Given the description of an element on the screen output the (x, y) to click on. 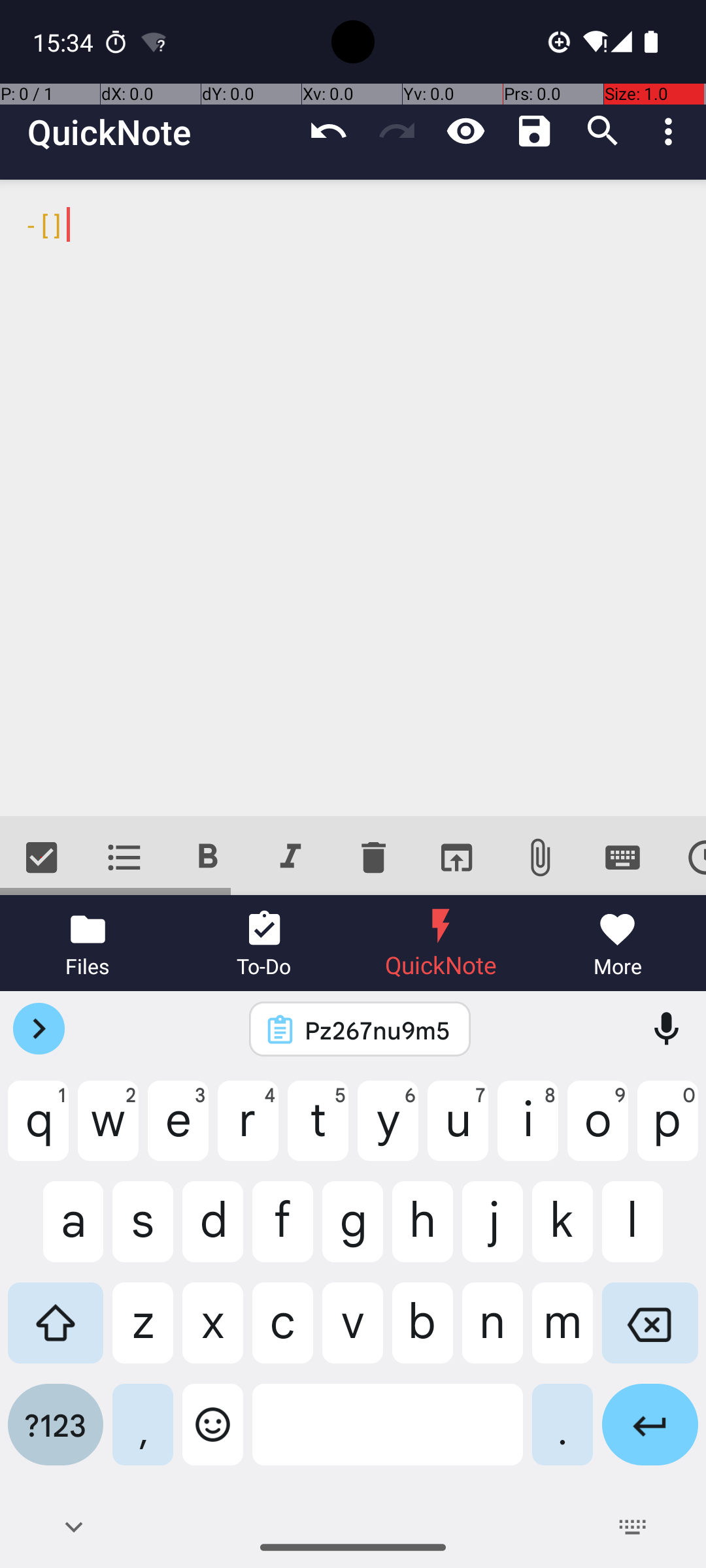
- [ ]  Element type: android.widget.EditText (353, 497)
Pz267nu9m5 Element type: android.widget.TextView (376, 1029)
